Given the description of an element on the screen output the (x, y) to click on. 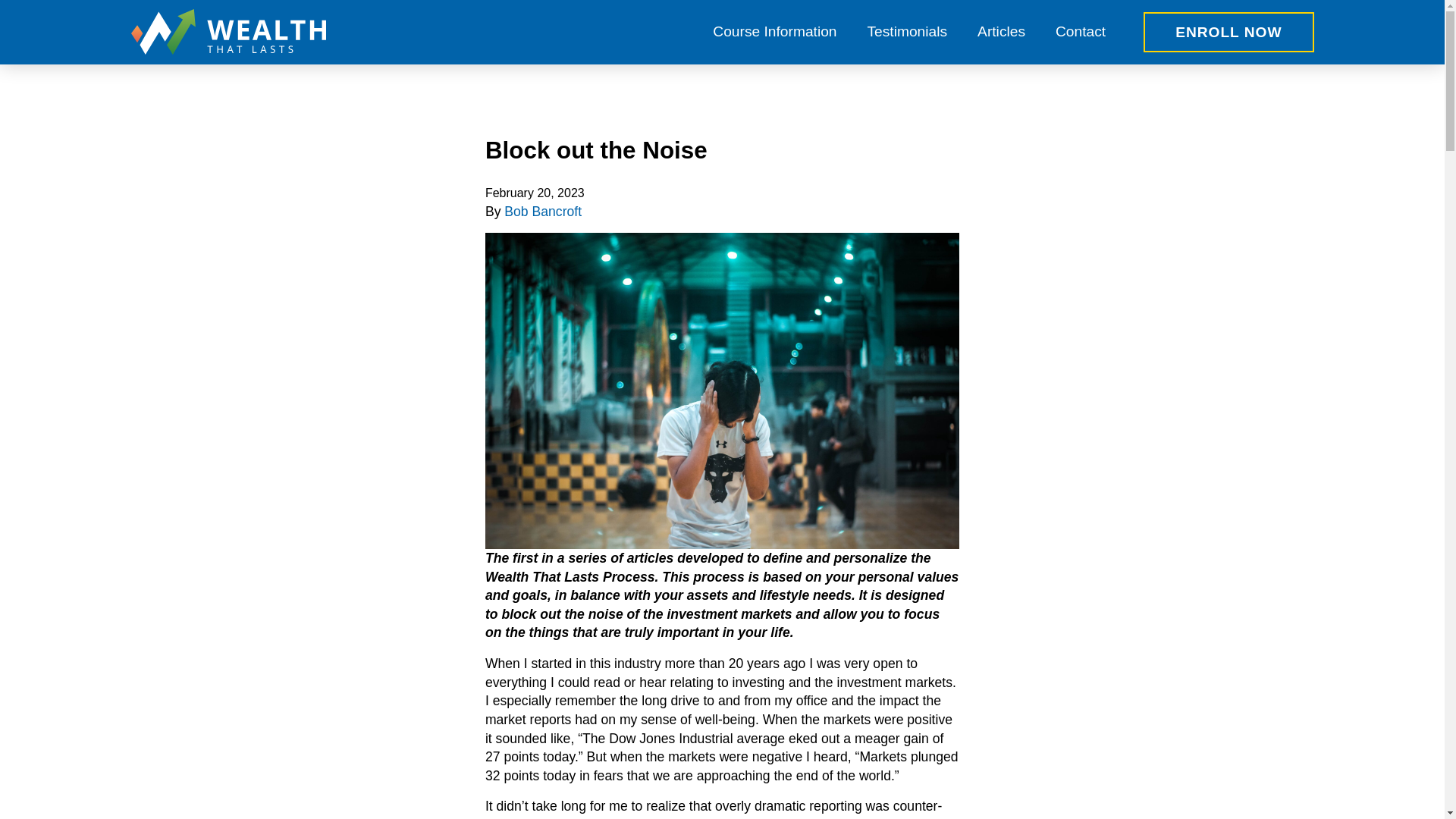
Course Information (774, 32)
Contact (1081, 32)
Testimonials (906, 32)
ENROLL NOW (1227, 32)
Testimonials (906, 32)
Bob Bancroft (541, 211)
Articles (1001, 32)
Contact (1081, 32)
